Given the description of an element on the screen output the (x, y) to click on. 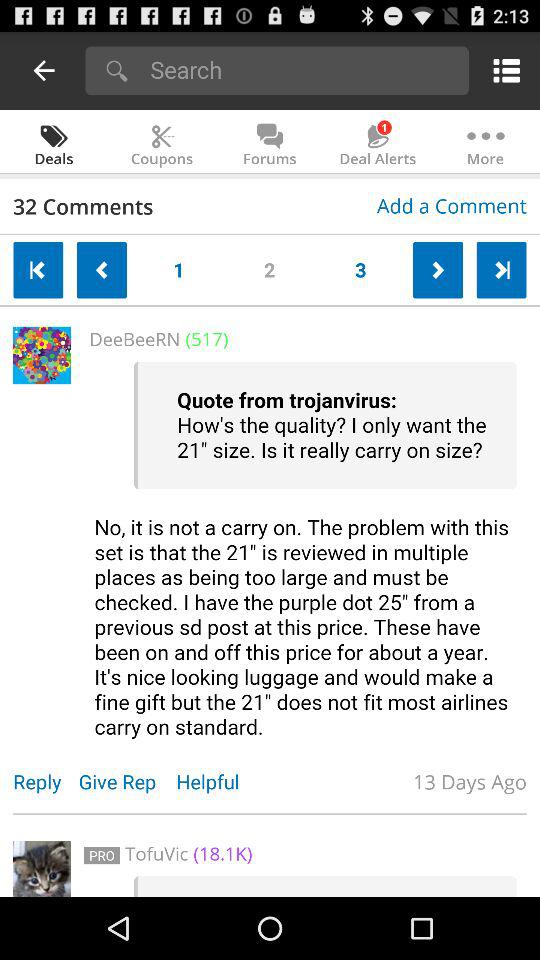
go to end of list (501, 270)
